Given the description of an element on the screen output the (x, y) to click on. 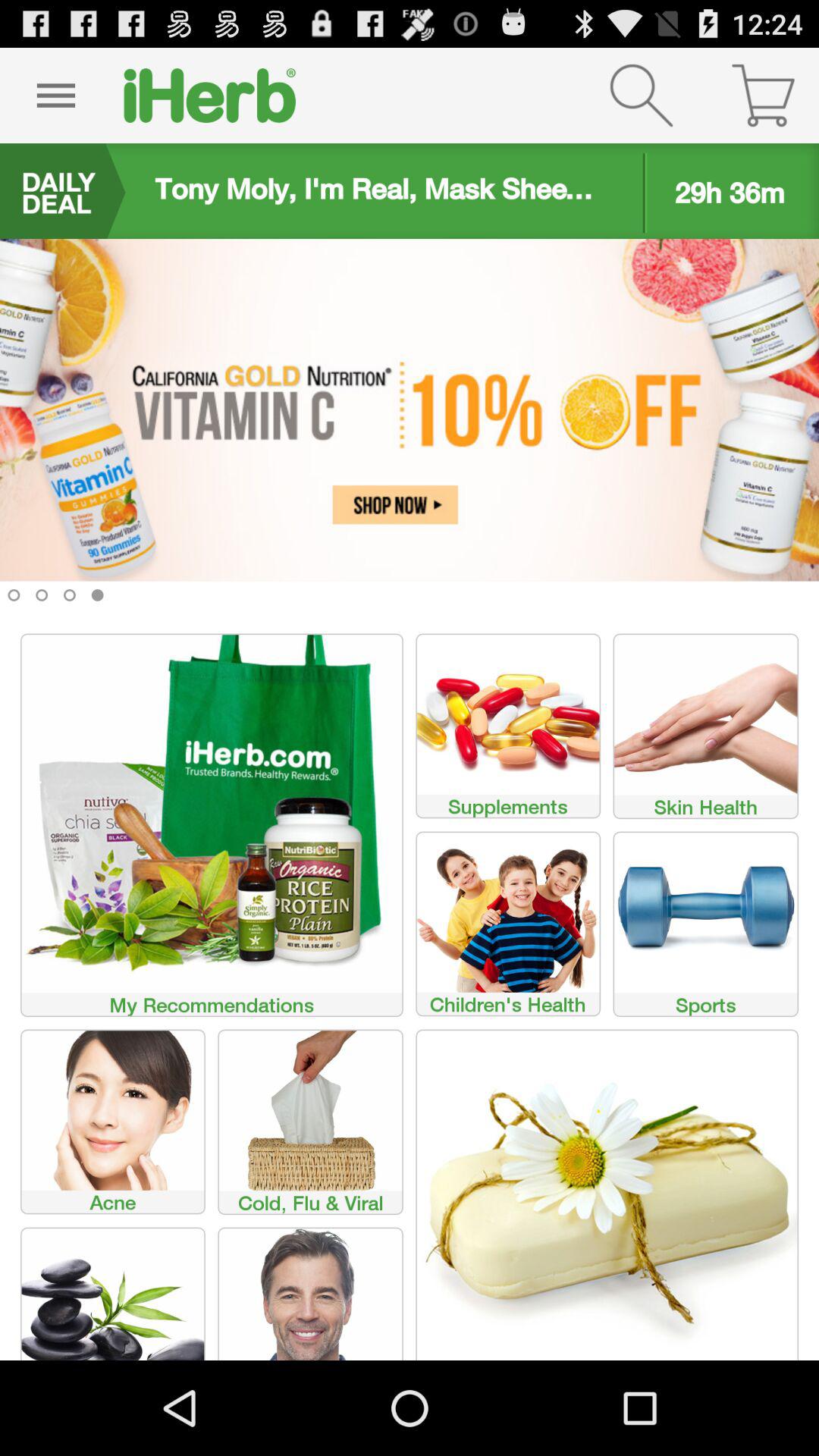
open search options (641, 95)
